Given the description of an element on the screen output the (x, y) to click on. 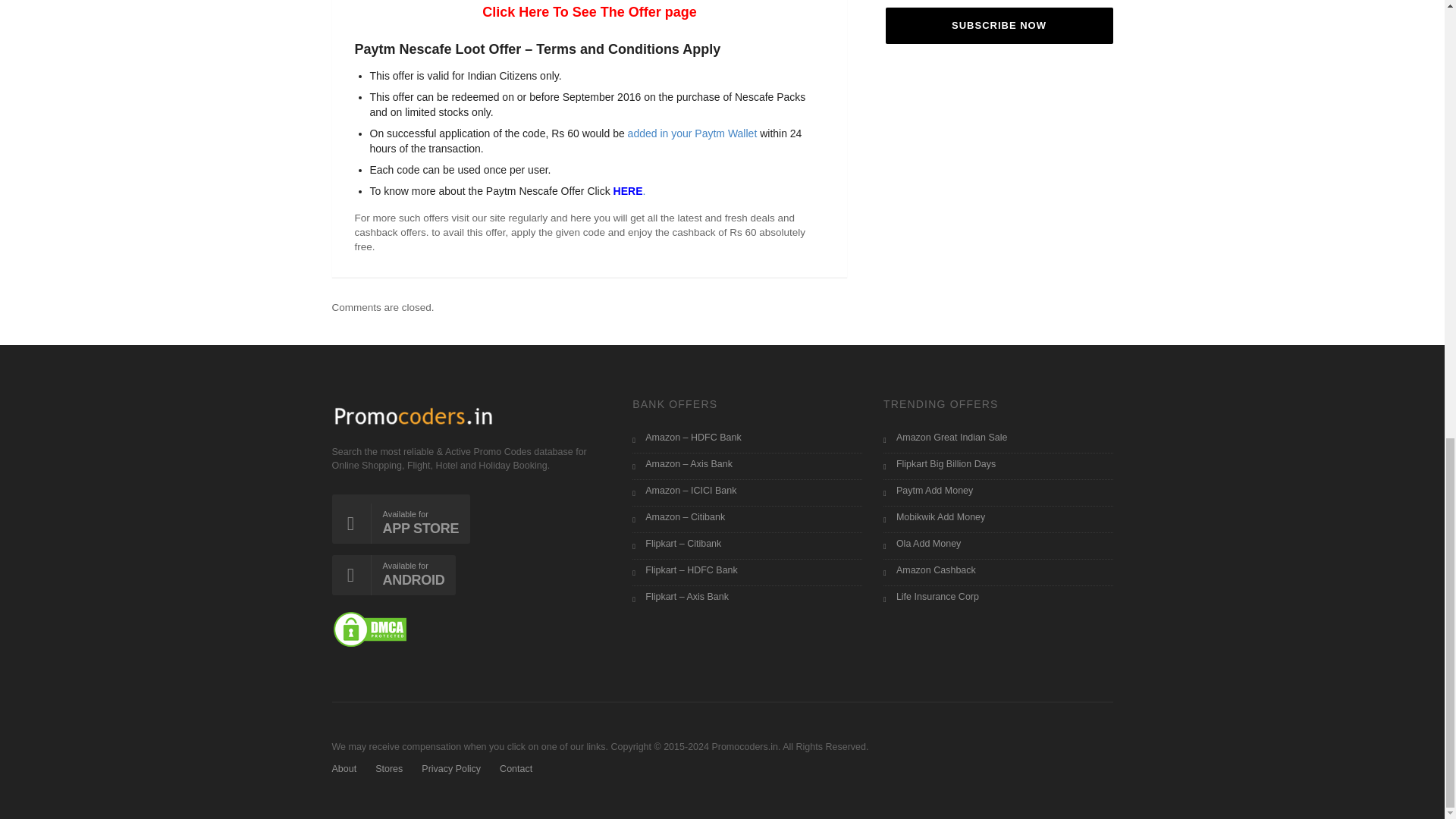
Click Here To See The Offer page (589, 11)
added in your Paytm Wallet (690, 133)
HERE. (629, 191)
DMCA.com Protection Status (369, 628)
Subscribe now (999, 25)
